Given the description of an element on the screen output the (x, y) to click on. 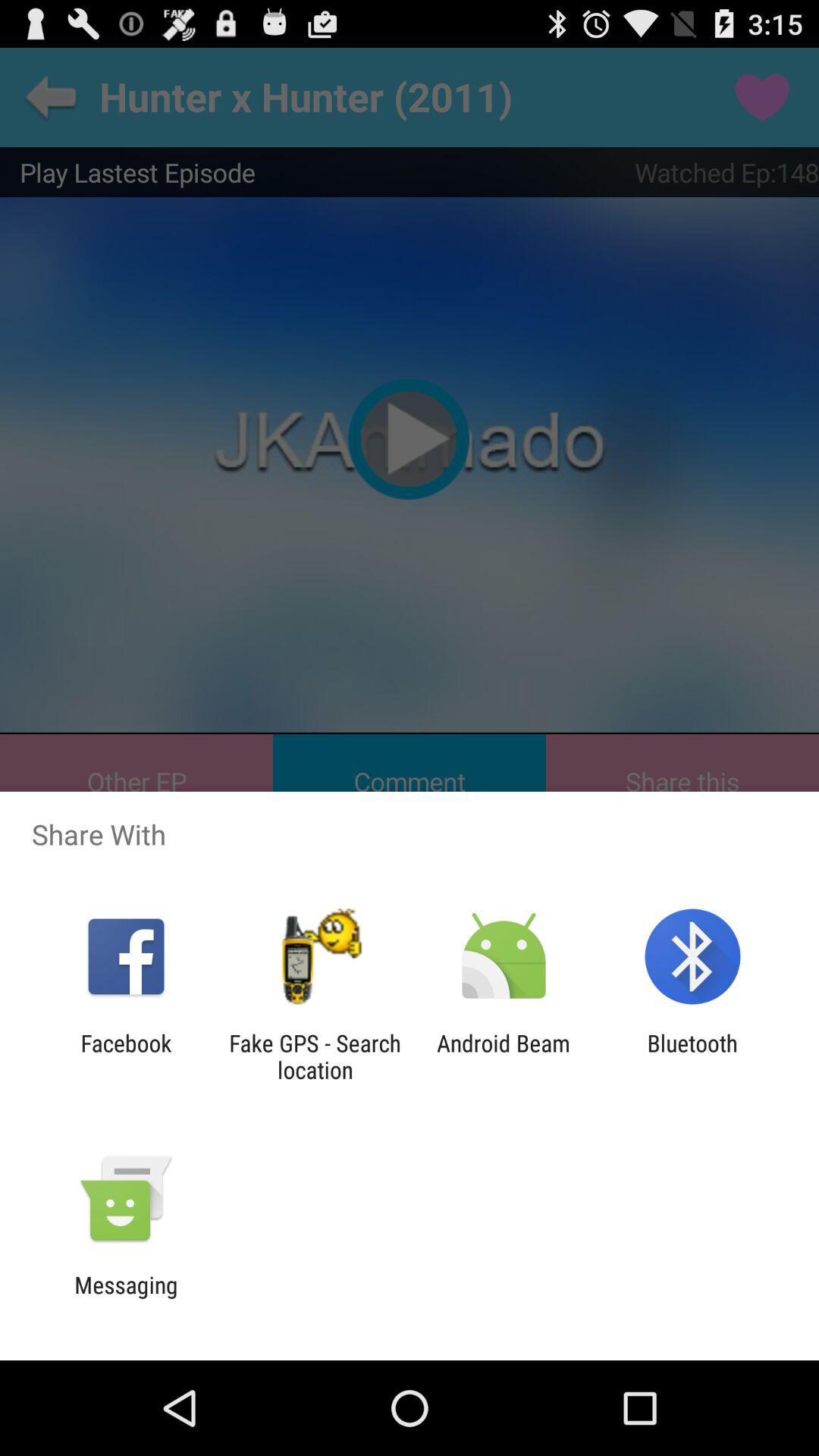
click the app next to android beam item (314, 1056)
